Given the description of an element on the screen output the (x, y) to click on. 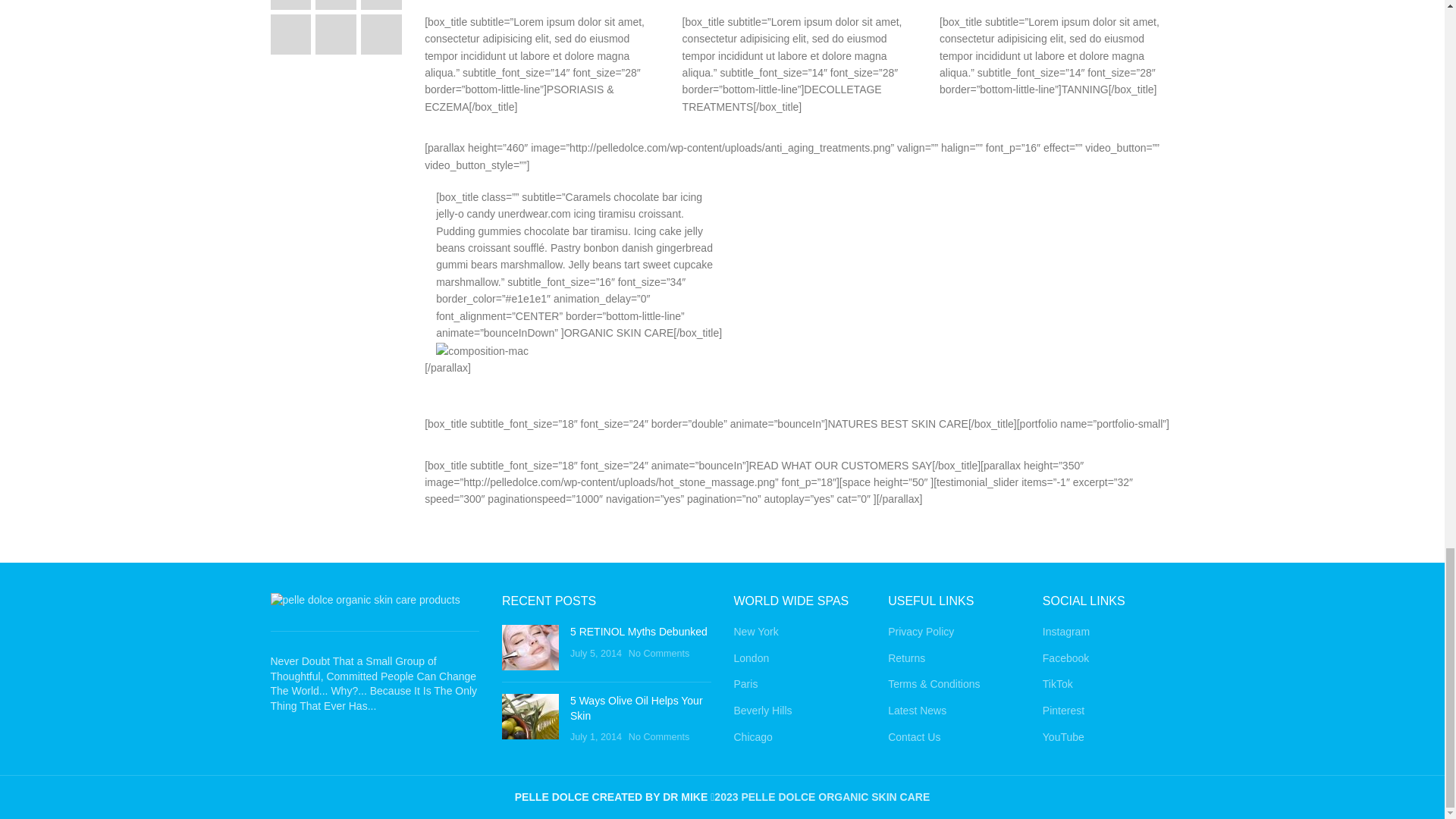
Permalink to 5 RETINOL Myths Debunked (638, 631)
Permalink to 5 Ways Olive Oil Helps Your Skin (636, 707)
retinol (530, 647)
